Given the description of an element on the screen output the (x, y) to click on. 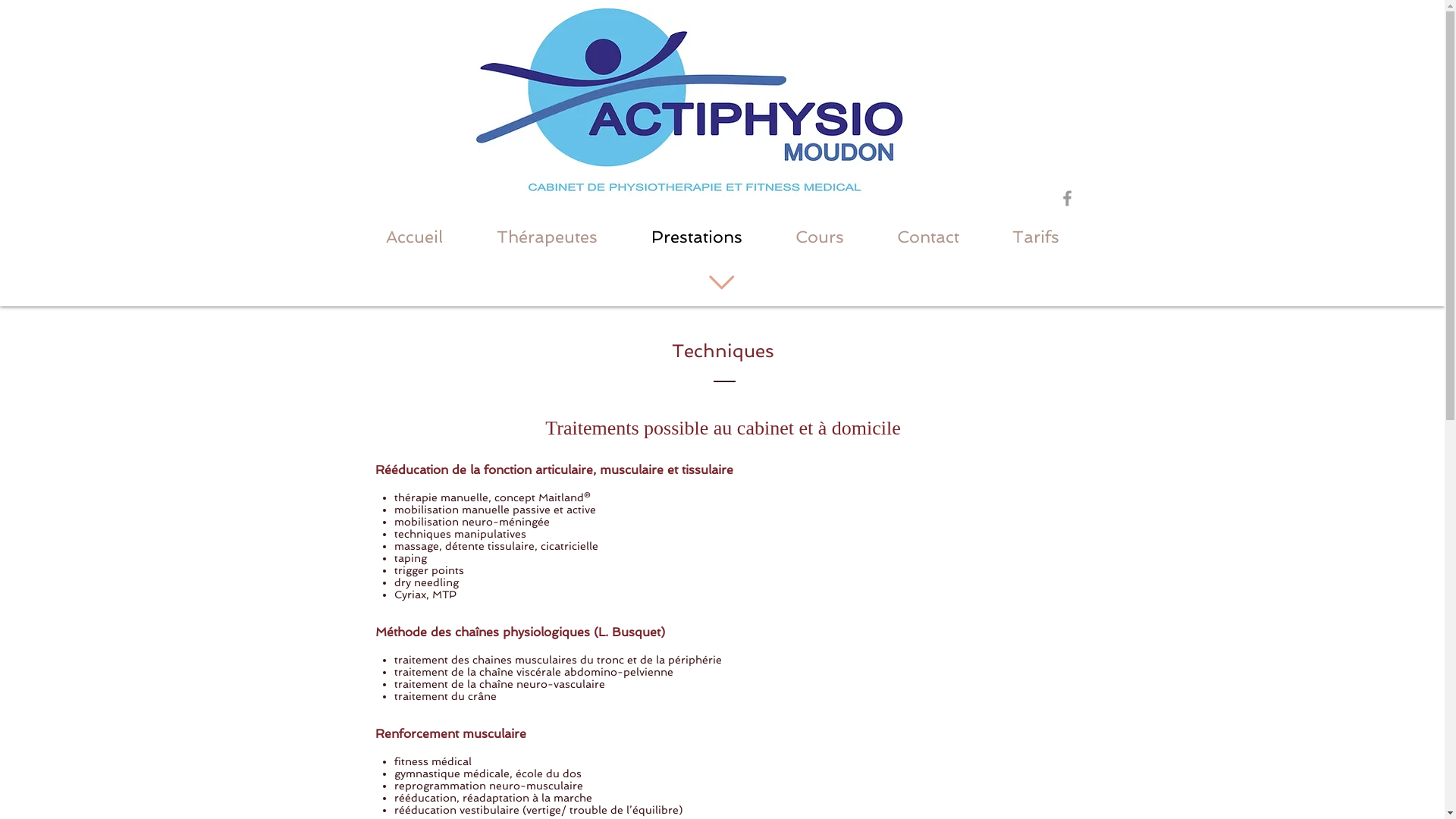
Tarifs Element type: text (1035, 236)
Accueil Element type: text (414, 236)
Techniques Element type: text (722, 350)
Contact Element type: text (927, 236)
Prestations Element type: text (696, 236)
